Given the description of an element on the screen output the (x, y) to click on. 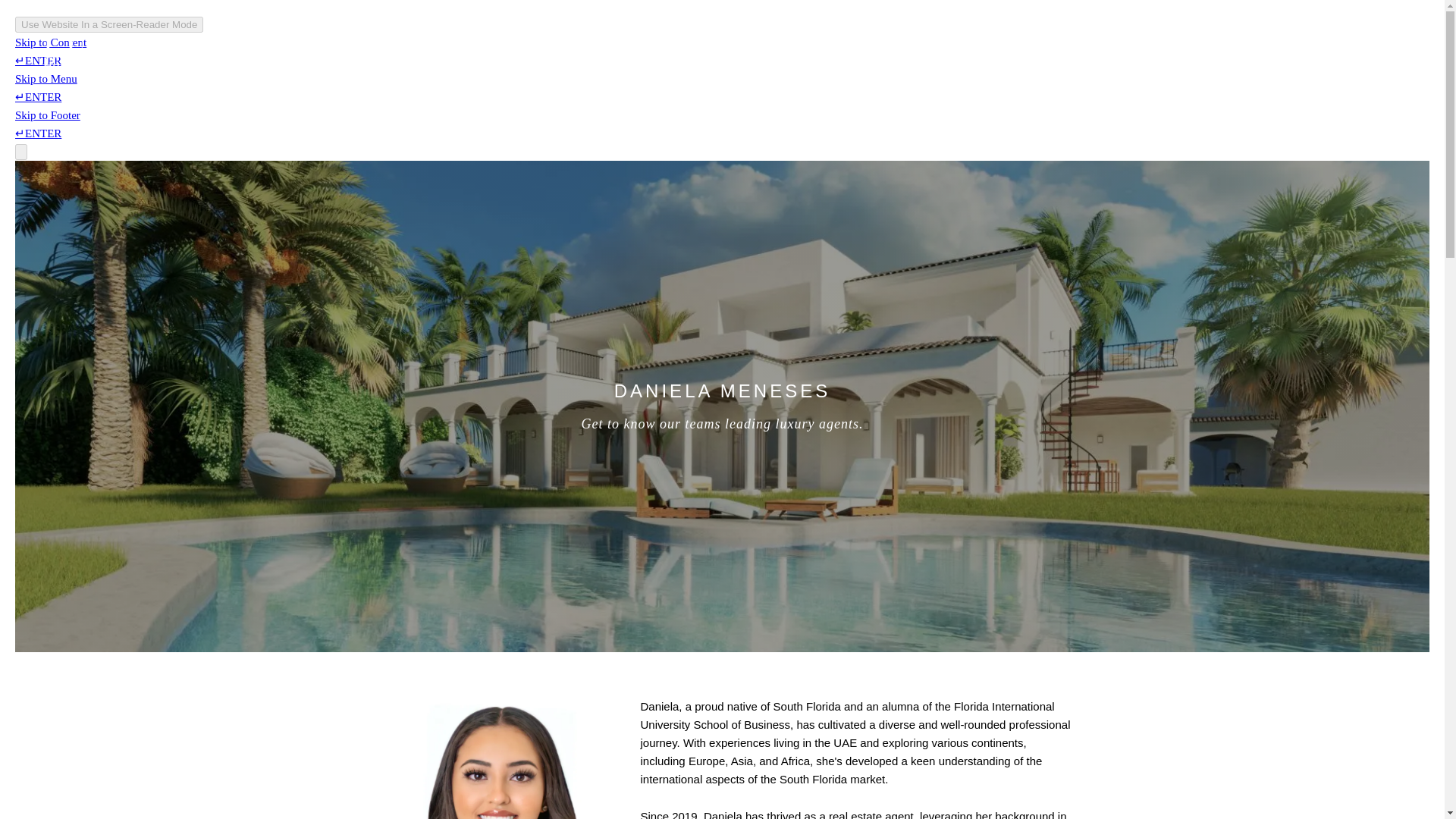
HOME SEARCH (801, 55)
MENU (1370, 58)
PROPERTIES (701, 55)
NEIGHBORHOODS (915, 55)
CONTACT US (1172, 55)
ABOUT US (613, 55)
RELOCATION (1023, 55)
BLOG (1098, 55)
